Given the description of an element on the screen output the (x, y) to click on. 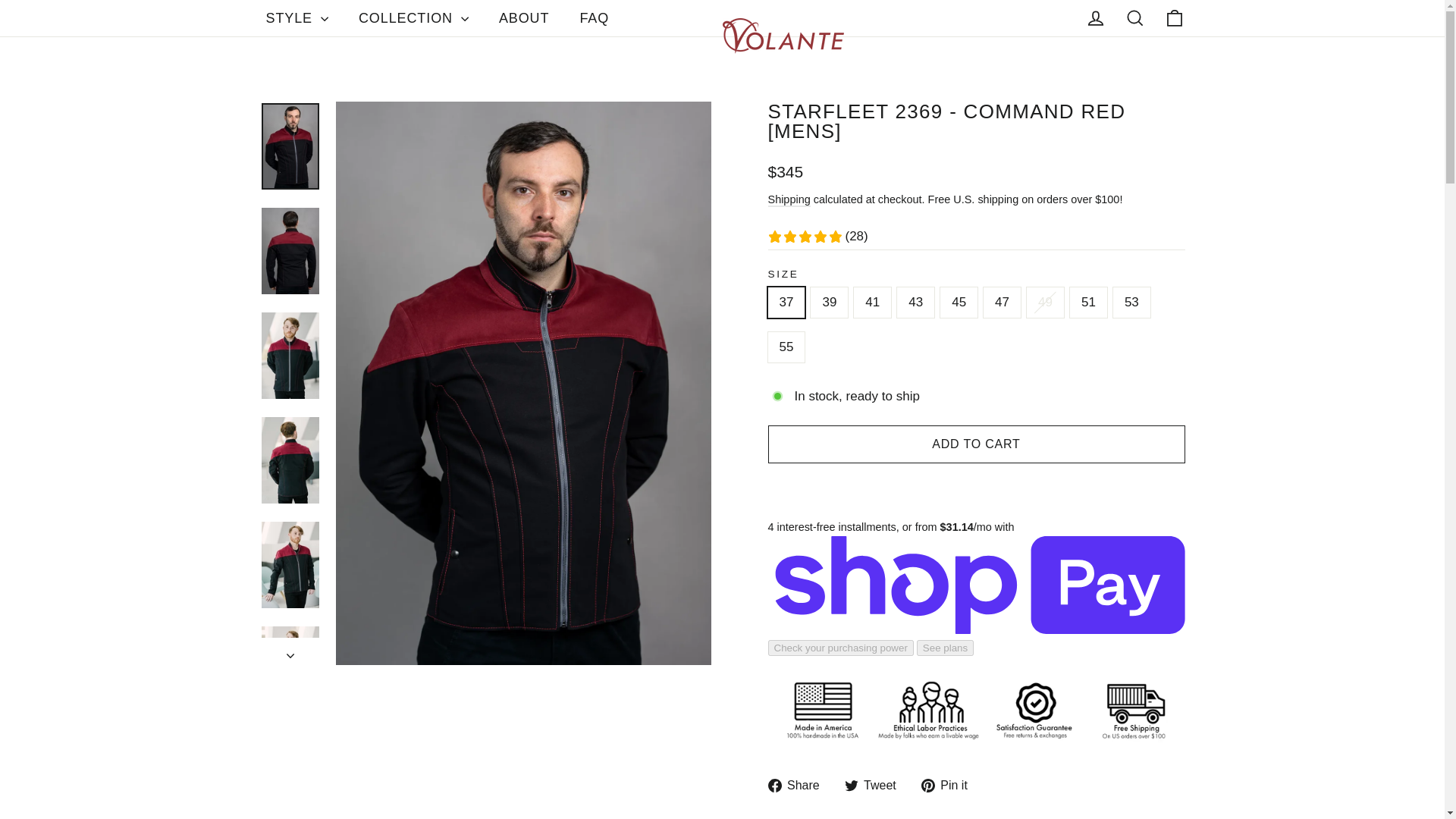
Share on Facebook (798, 784)
Pin on Pinterest (949, 784)
